Given the description of an element on the screen output the (x, y) to click on. 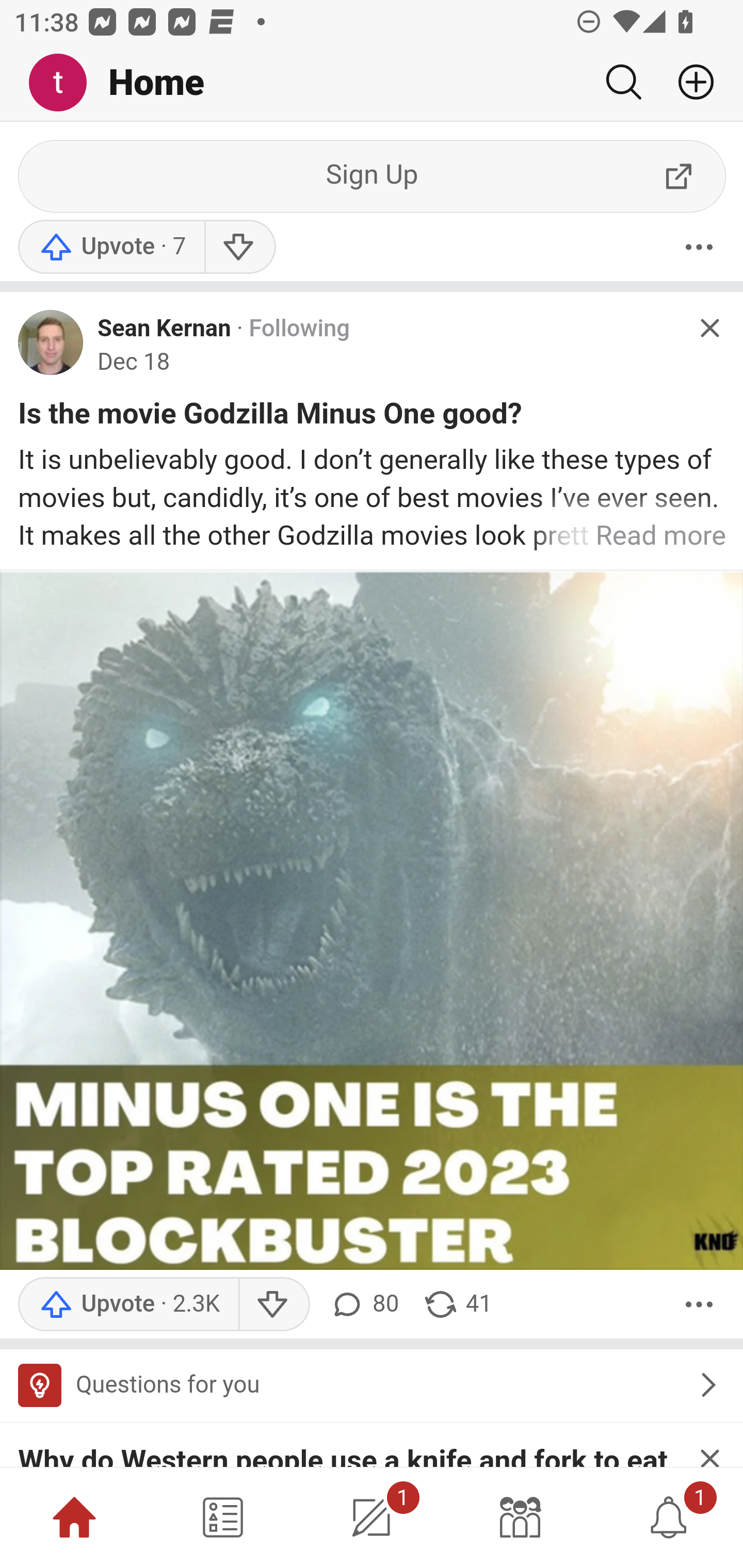
Me (64, 83)
Search (623, 82)
Add (688, 82)
Sign Up ExternalLink (372, 176)
Upvote (111, 246)
Downvote (238, 246)
More (699, 246)
Hide (709, 328)
Profile photo for Sean Kernan (50, 342)
Sean Kernan (164, 328)
Upvote (127, 1304)
Downvote (273, 1304)
80 comments (363, 1304)
41 shares (457, 1304)
More (699, 1304)
Questions for you (371, 1386)
1 (371, 1517)
1 (668, 1517)
